Given the description of an element on the screen output the (x, y) to click on. 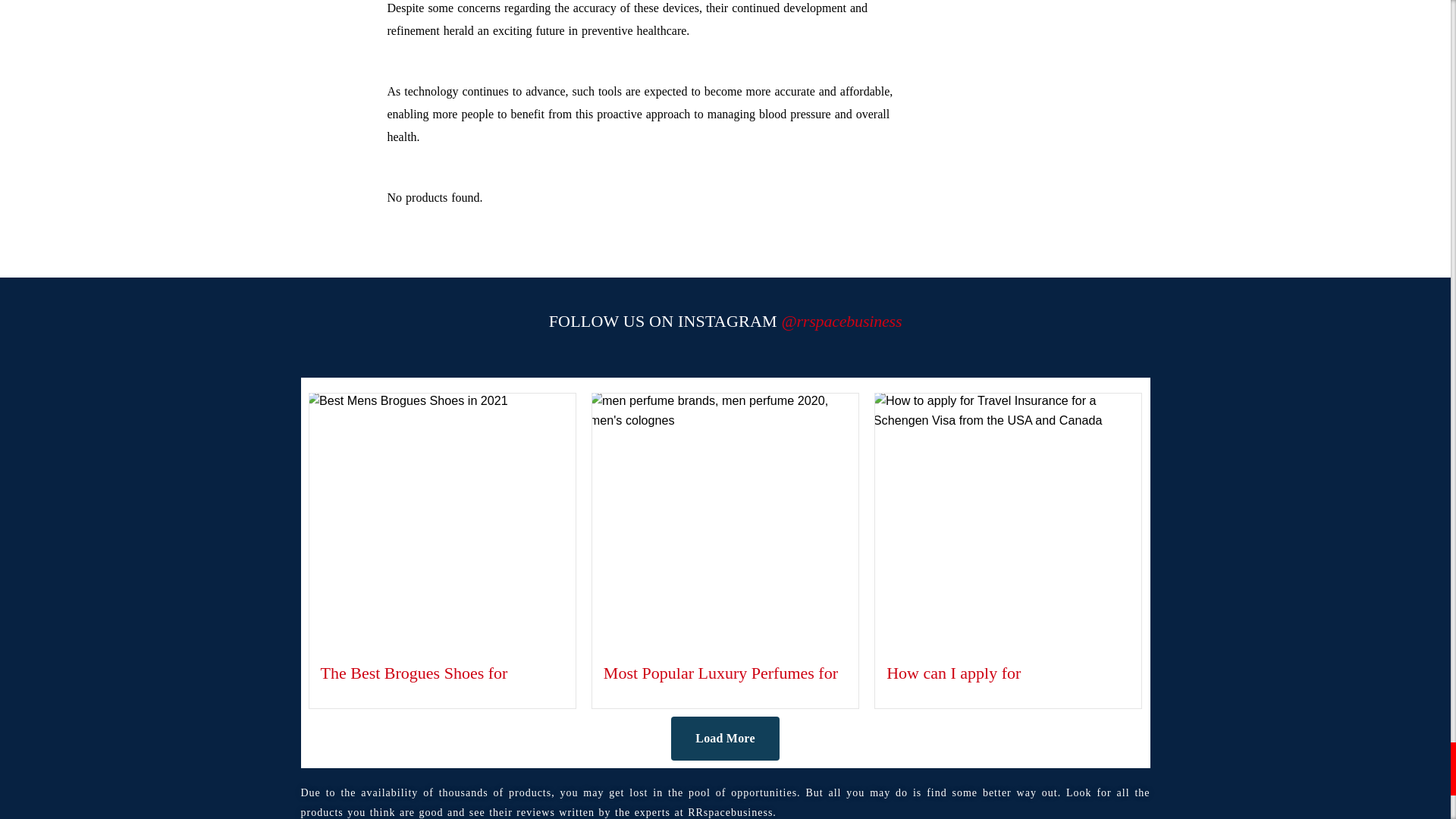
The Best Brogues Shoes for Men (413, 672)
Most Popular Luxury Perfumes for Men (721, 672)
